Given the description of an element on the screen output the (x, y) to click on. 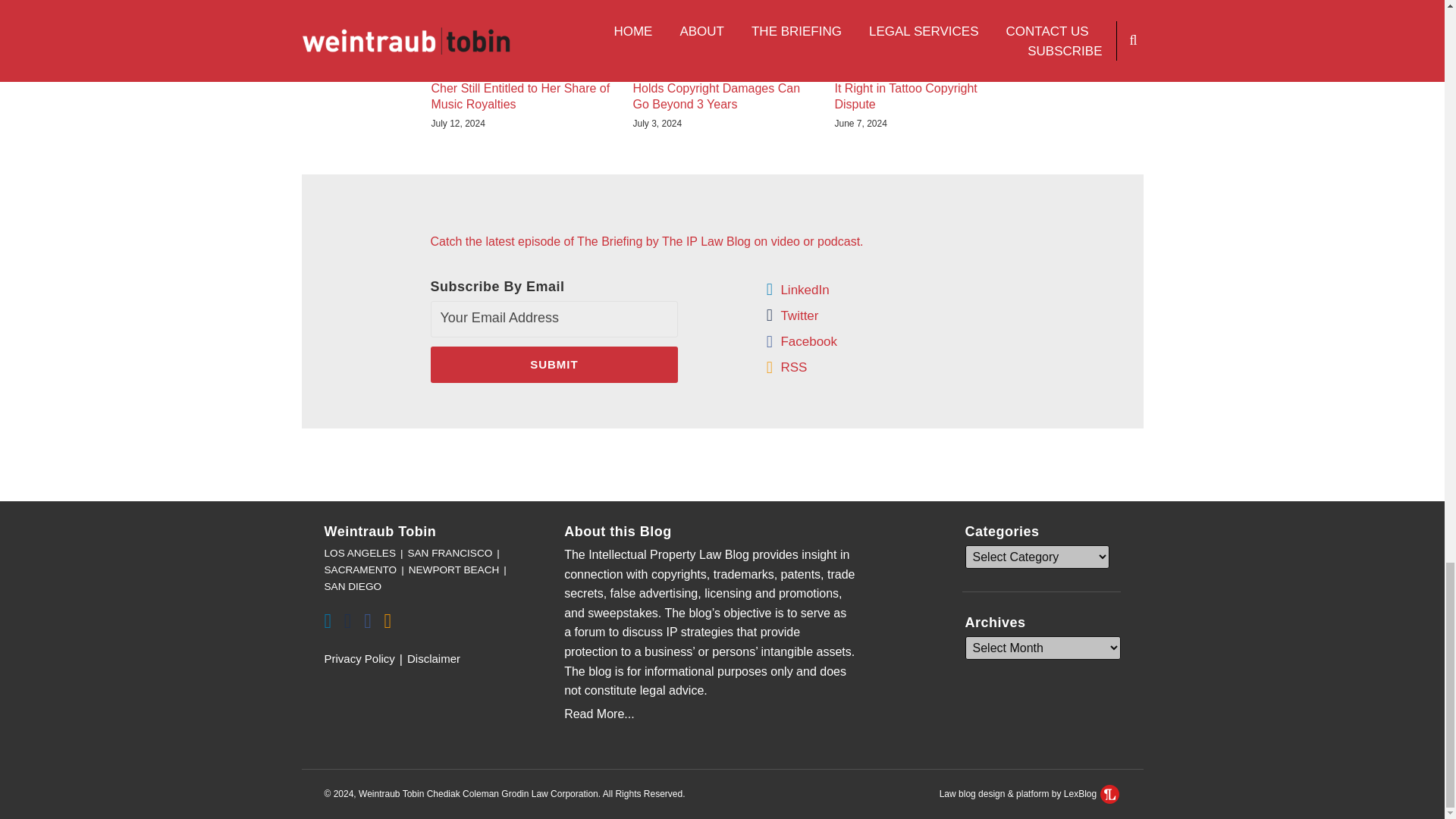
Submit (554, 364)
Submit (554, 364)
LexBlog Logo (1109, 793)
